Given the description of an element on the screen output the (x, y) to click on. 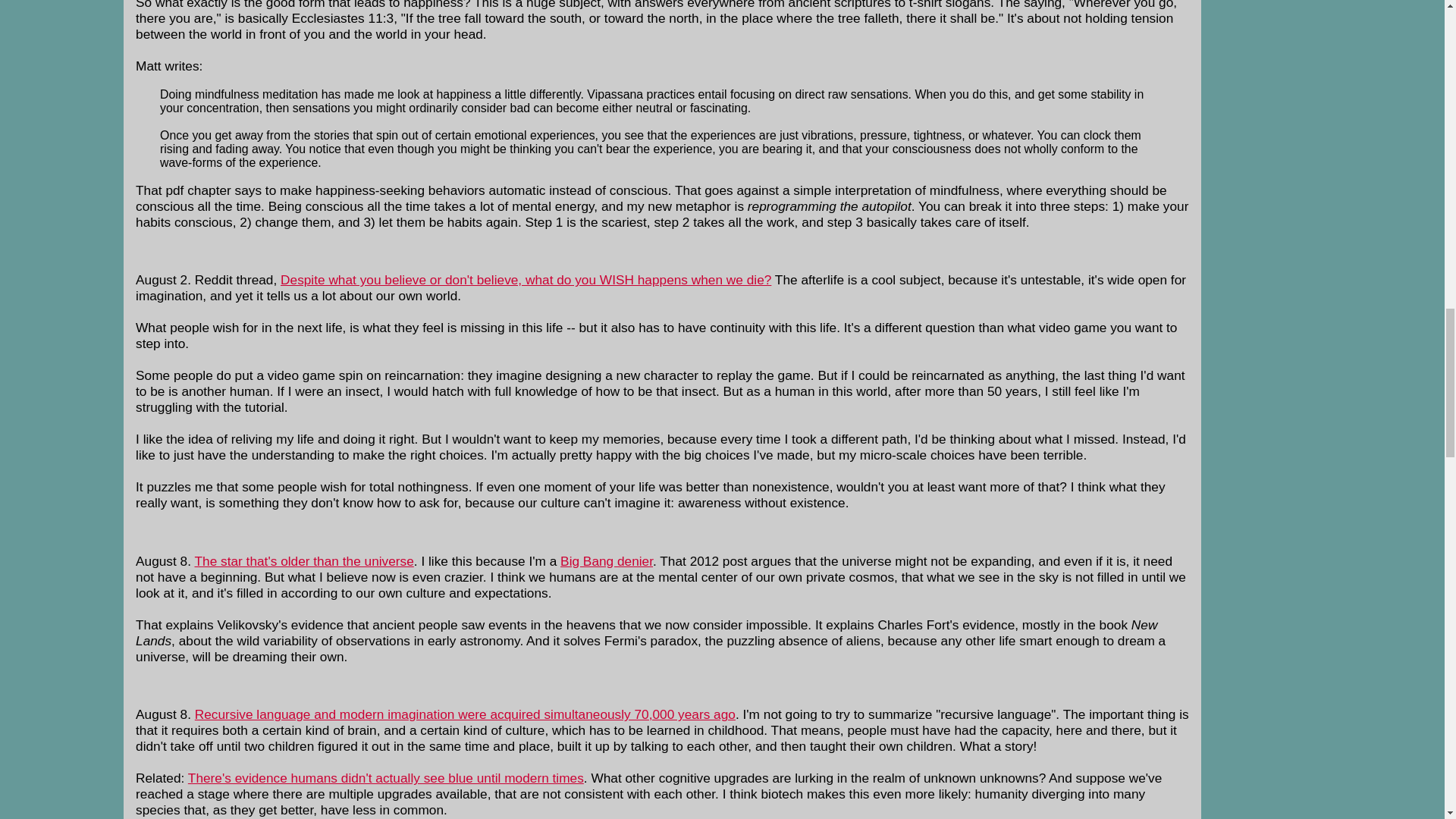
The star that's older than the universe (303, 560)
Big Bang denier (606, 560)
